Given the description of an element on the screen output the (x, y) to click on. 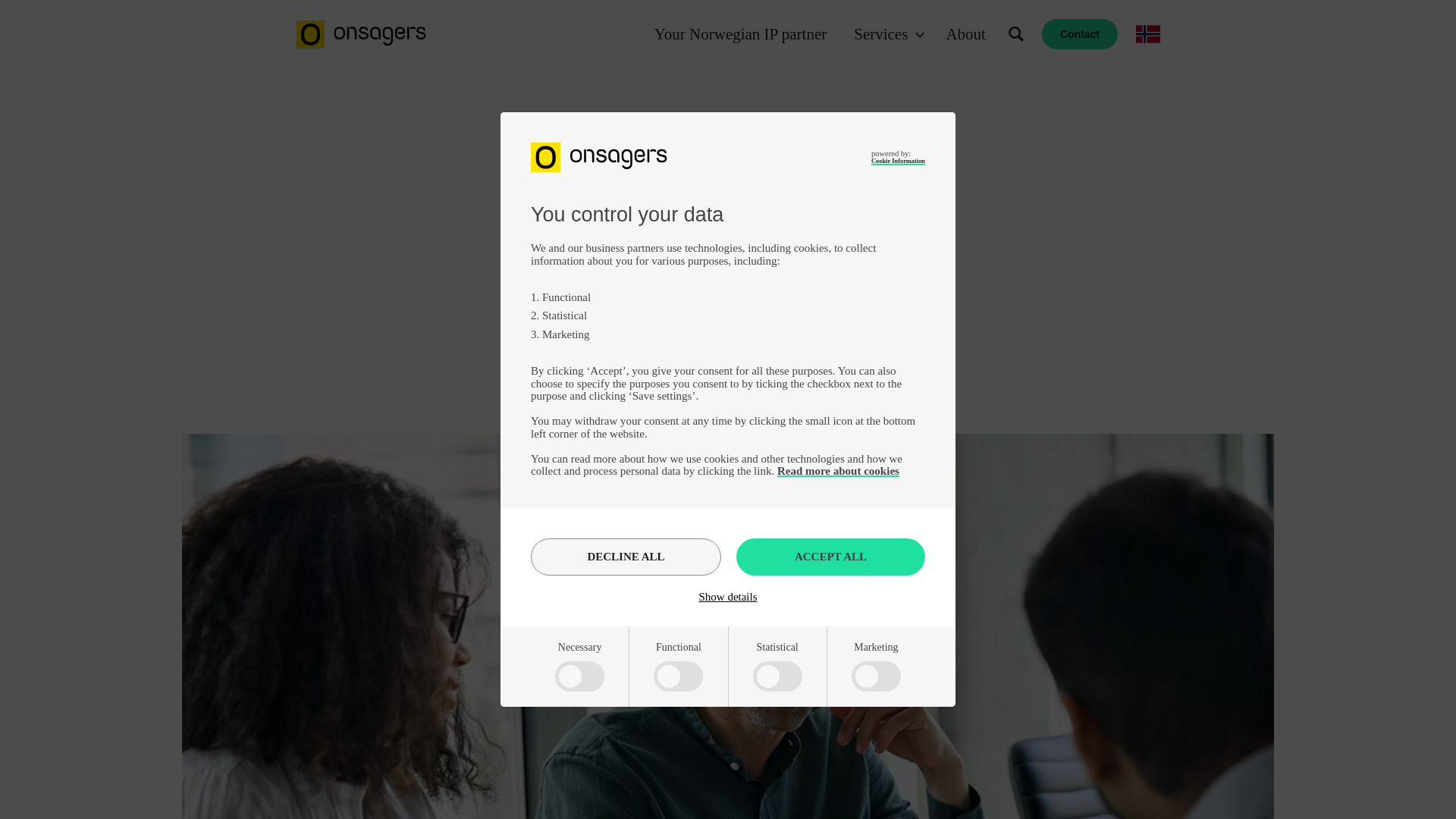
Read more about cookies (838, 470)
ACCEPT ALL (830, 556)
Show details (727, 596)
Cookie Information (897, 161)
DECLINE ALL (625, 556)
